Given the description of an element on the screen output the (x, y) to click on. 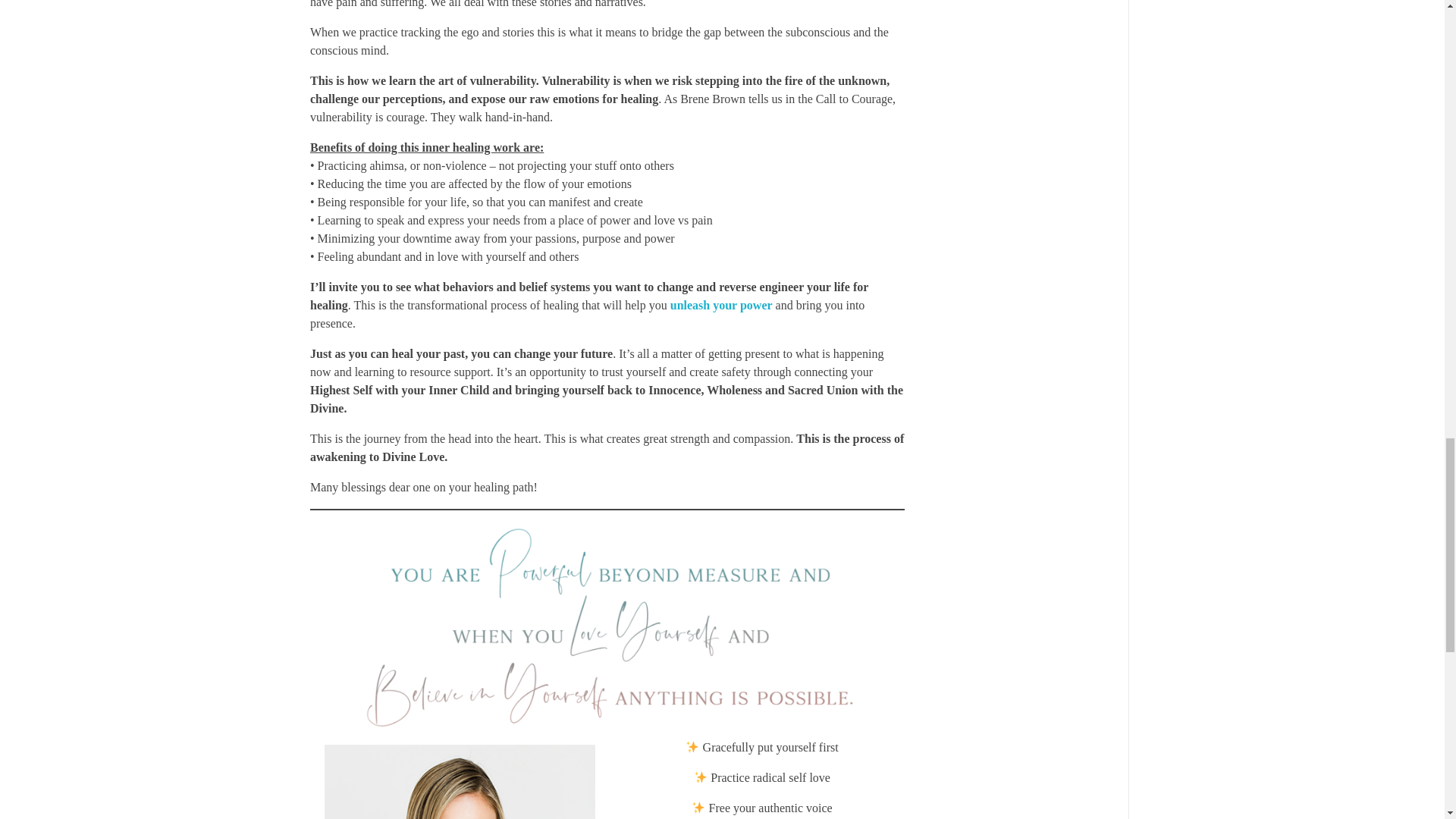
unleash your power (719, 305)
